Given the description of an element on the screen output the (x, y) to click on. 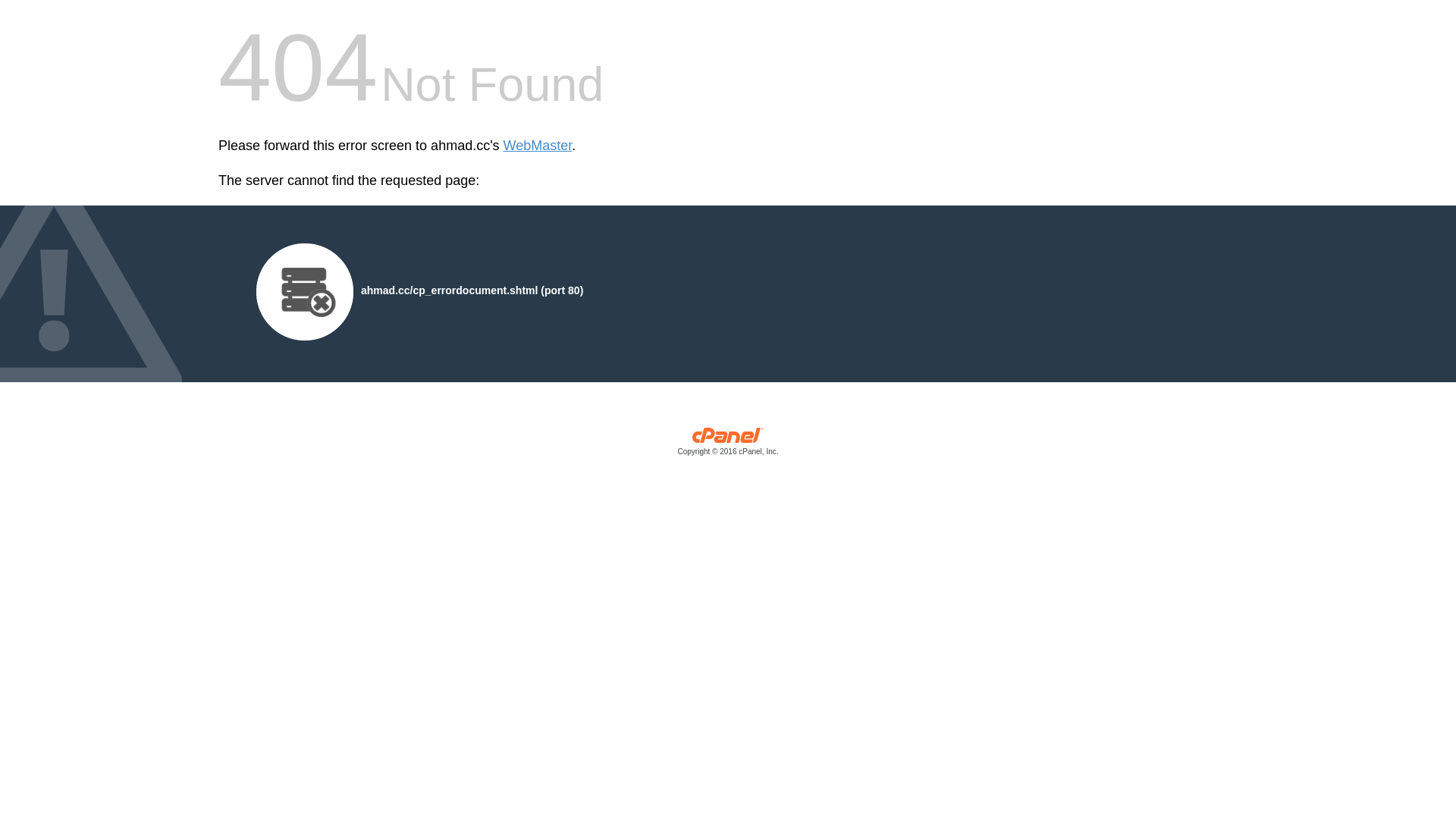
WebMaster Element type: text (537, 145)
